Given the description of an element on the screen output the (x, y) to click on. 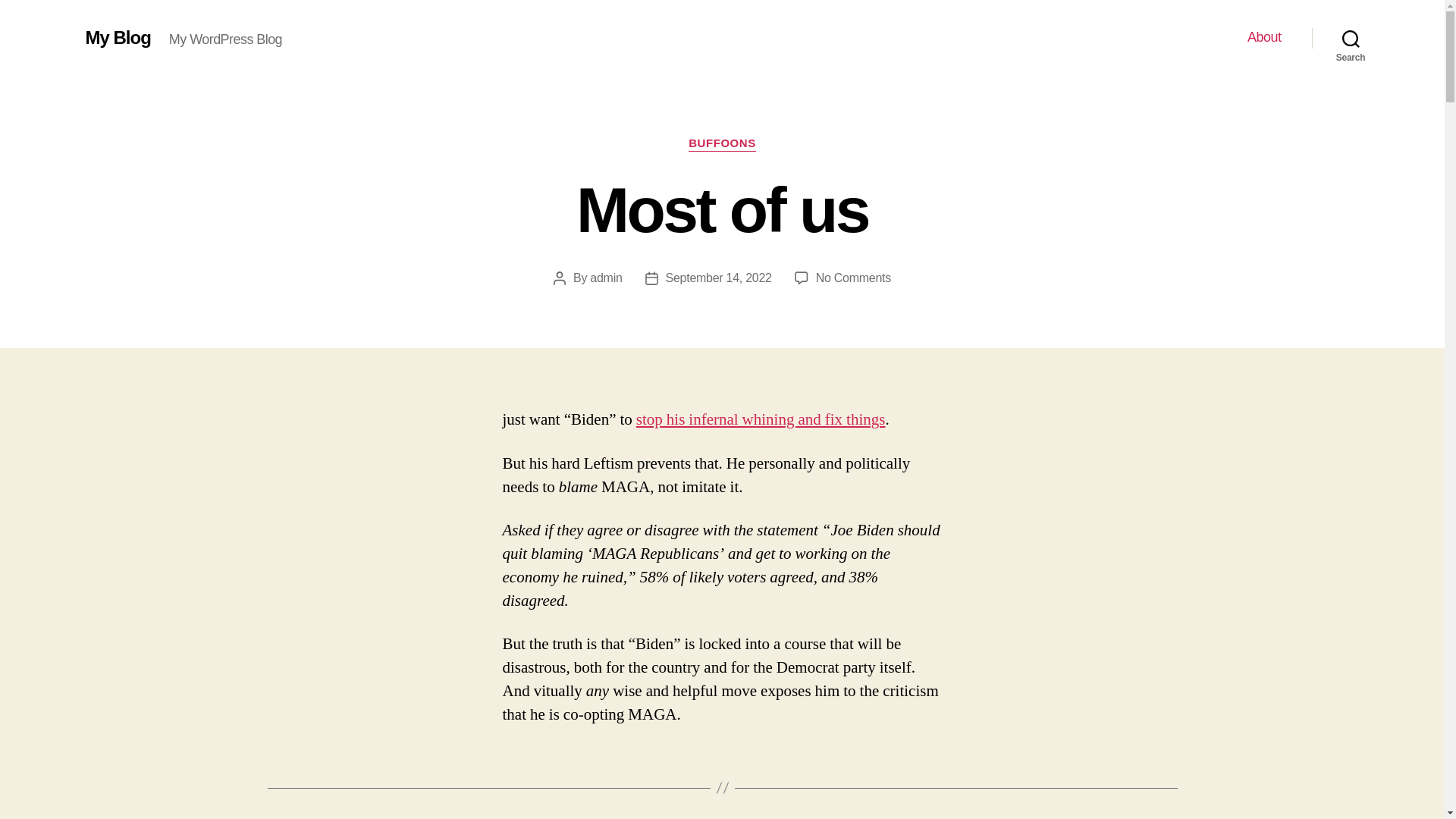
Search (1350, 37)
About (1264, 37)
stop his infernal whining and fix things (760, 419)
BUFFOONS (853, 277)
admin (721, 143)
My Blog (605, 277)
September 14, 2022 (116, 37)
